Given the description of an element on the screen output the (x, y) to click on. 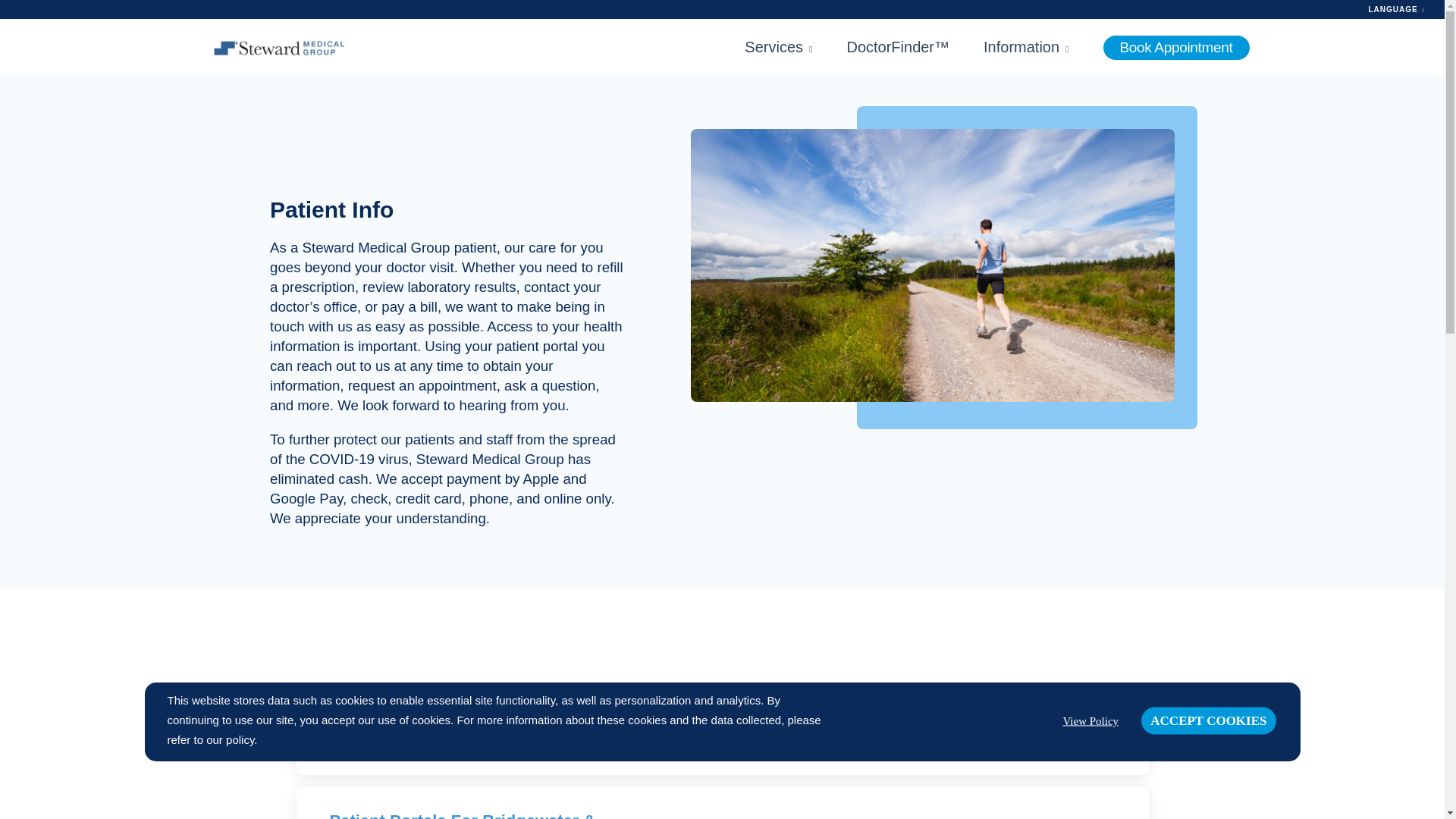
Services (778, 46)
Patient Portal (382, 724)
Information (1026, 46)
Book Appointment (1175, 47)
